Given the description of an element on the screen output the (x, y) to click on. 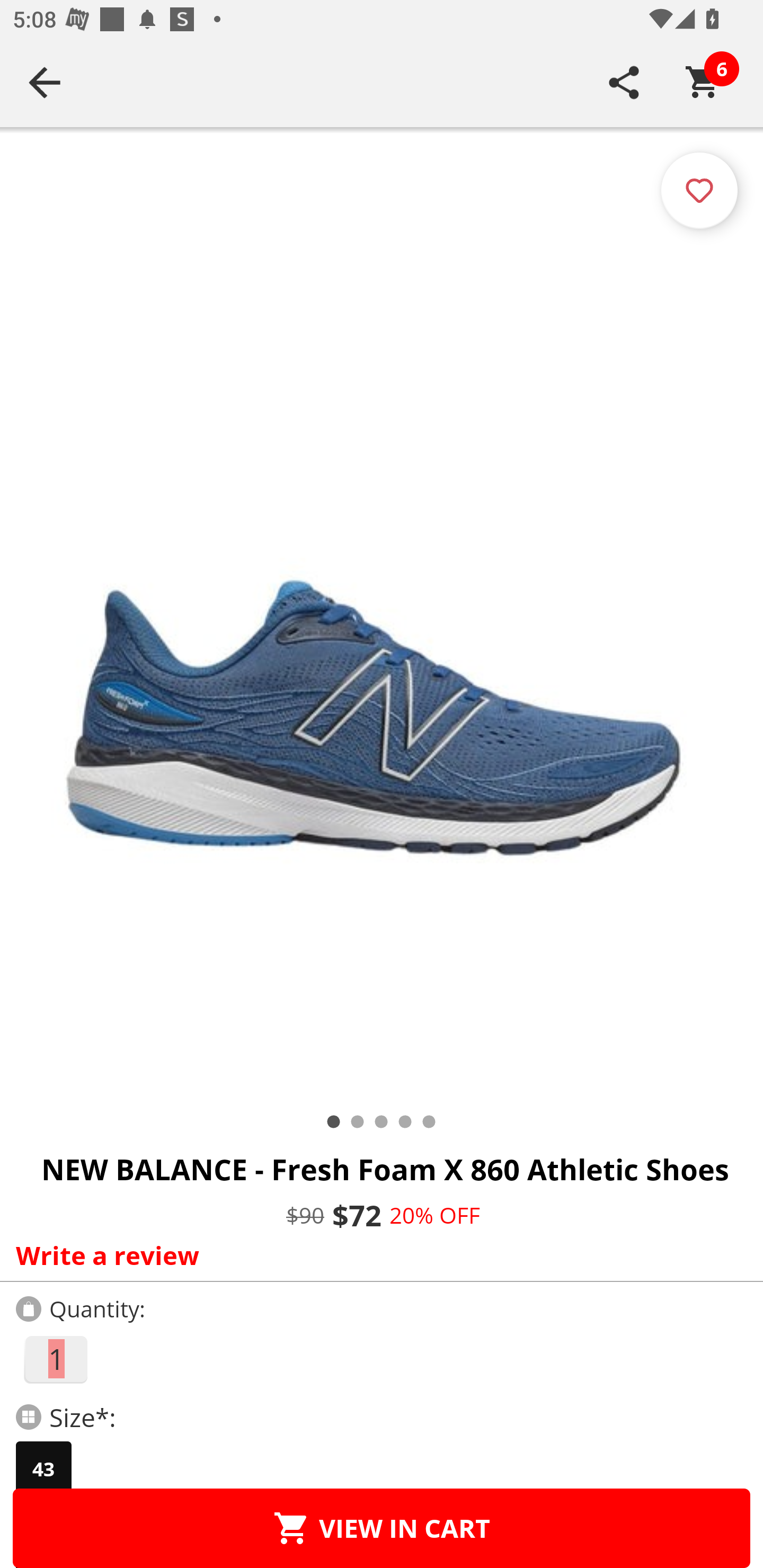
Navigate up (44, 82)
SHARE (623, 82)
Cart (703, 81)
Write a review (377, 1255)
1 (55, 1358)
43 (43, 1468)
VIEW IN CART (381, 1528)
